Given the description of an element on the screen output the (x, y) to click on. 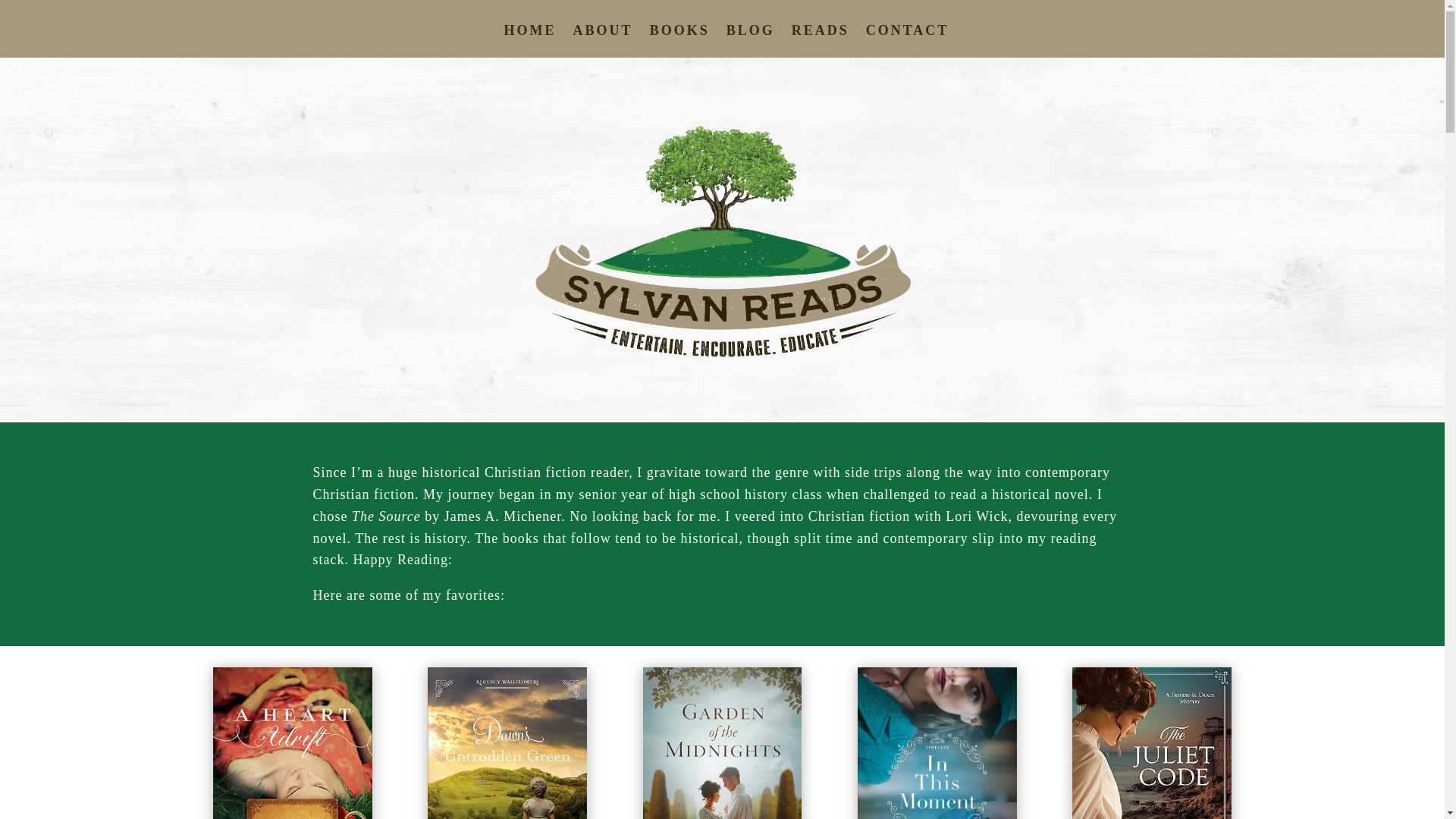
BLOG (750, 41)
Dawns untrodden green (507, 743)
gardens of the midnights (722, 743)
sylvanreads (721, 239)
HOME (529, 41)
ABOUT (603, 41)
BOOKS (679, 41)
CONTACT (907, 41)
READS (820, 41)
Juliet's Code (1151, 743)
